Given the description of an element on the screen output the (x, y) to click on. 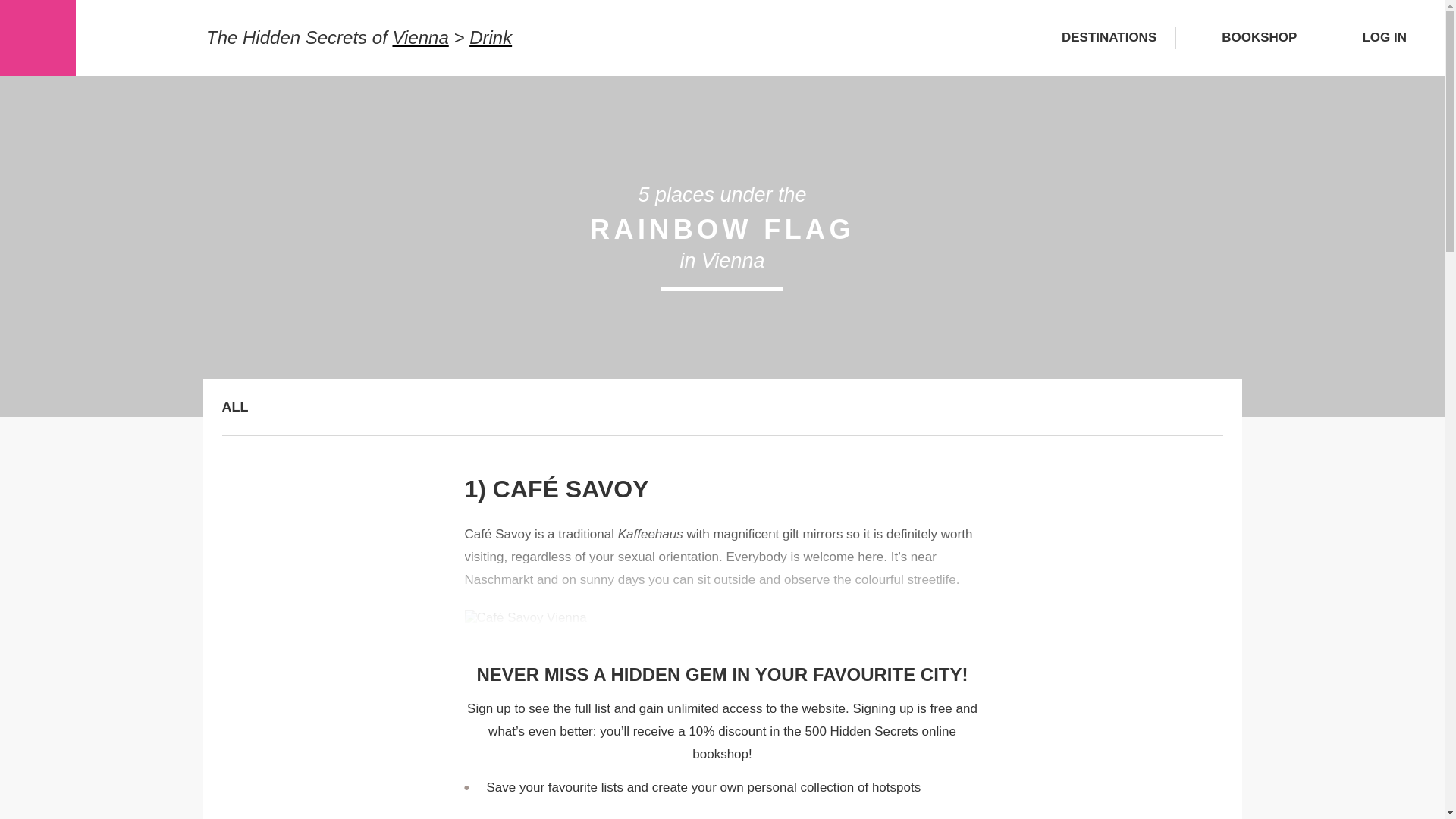
BUILDINGS (259, 744)
Search (122, 36)
SLEEP (243, 795)
Drink (490, 37)
BOOKSHOP (1246, 37)
CULTURE (253, 631)
The 500 Hidden Secrets (37, 38)
LOG IN (1370, 37)
Vienna (419, 37)
DISCOVER (256, 688)
DESTINATIONS (1097, 37)
